Given the description of an element on the screen output the (x, y) to click on. 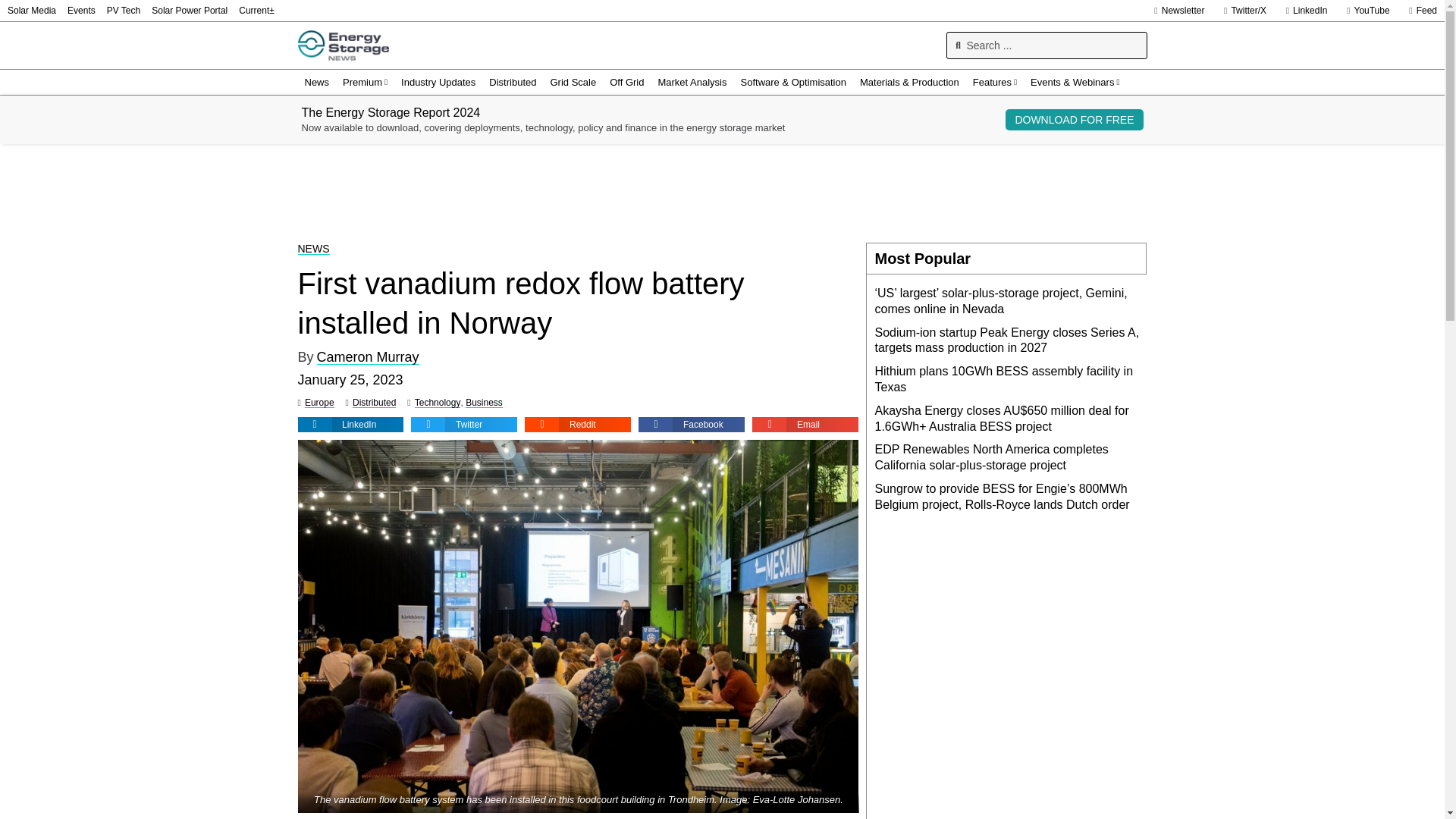
3rd party ad content (1011, 626)
YouTube (1363, 10)
3rd party ad content (1011, 778)
Grid Scale (572, 82)
Distributed (512, 82)
Events (81, 10)
Solar Power Portal (189, 10)
DOWNLOAD FOR FREE (1074, 119)
Off Grid (626, 82)
Market Analysis (691, 82)
3rd party ad content (721, 192)
Features (994, 82)
Premium (365, 82)
Feed (1418, 10)
Help widget launcher (1379, 792)
